Given the description of an element on the screen output the (x, y) to click on. 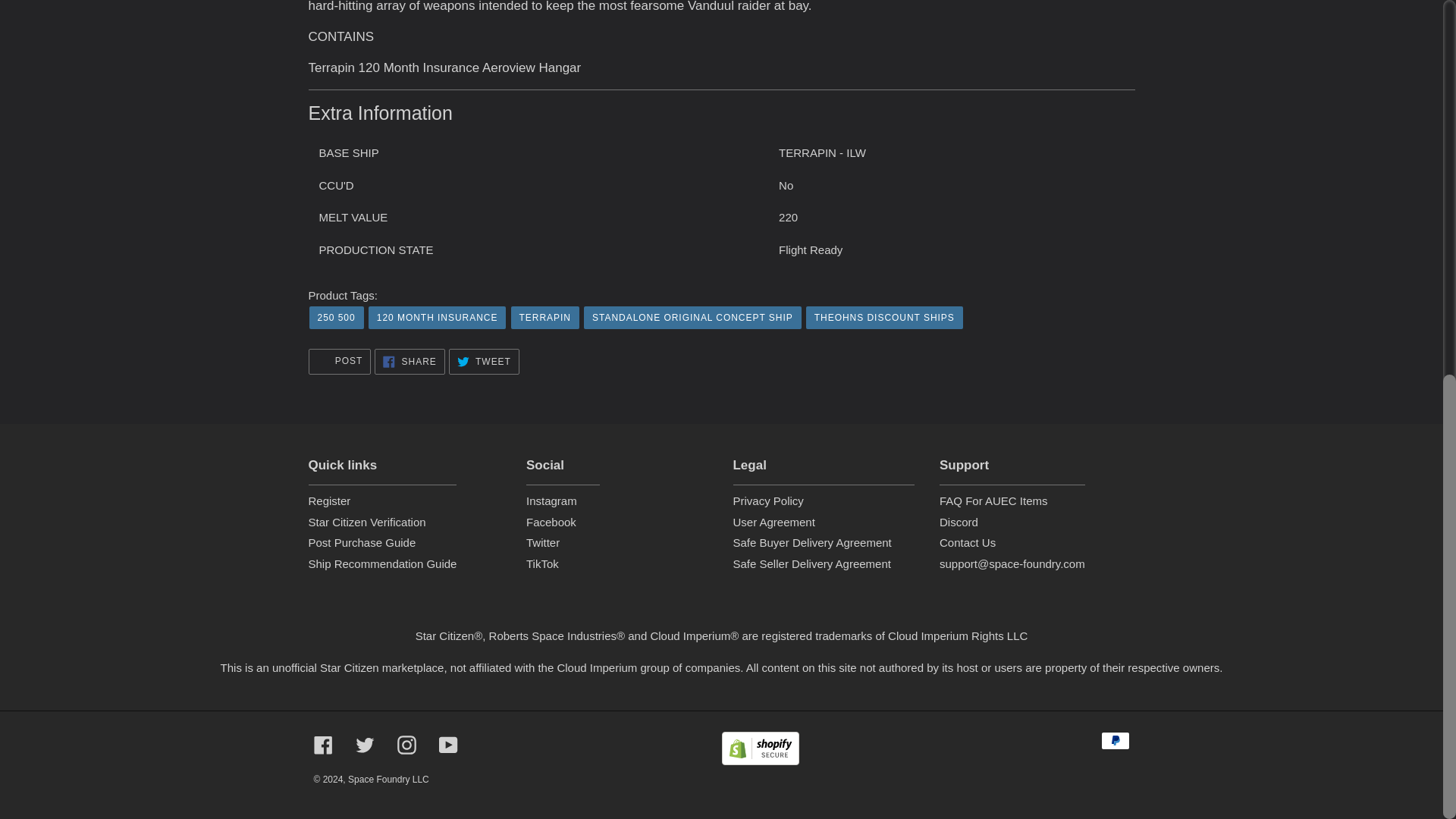
120 MONTH INSURANCE (437, 317)
THEOHNS DISCOUNT SHIPS (884, 317)
TERRAPIN (545, 317)
STANDALONE ORIGINAL CONCEPT SHIP (409, 361)
Star Citizen Verification (483, 361)
POST (692, 317)
250 500 (366, 521)
Register (339, 361)
Post Purchase Guide (336, 317)
This online store is secured by Shopify (328, 500)
